Given the description of an element on the screen output the (x, y) to click on. 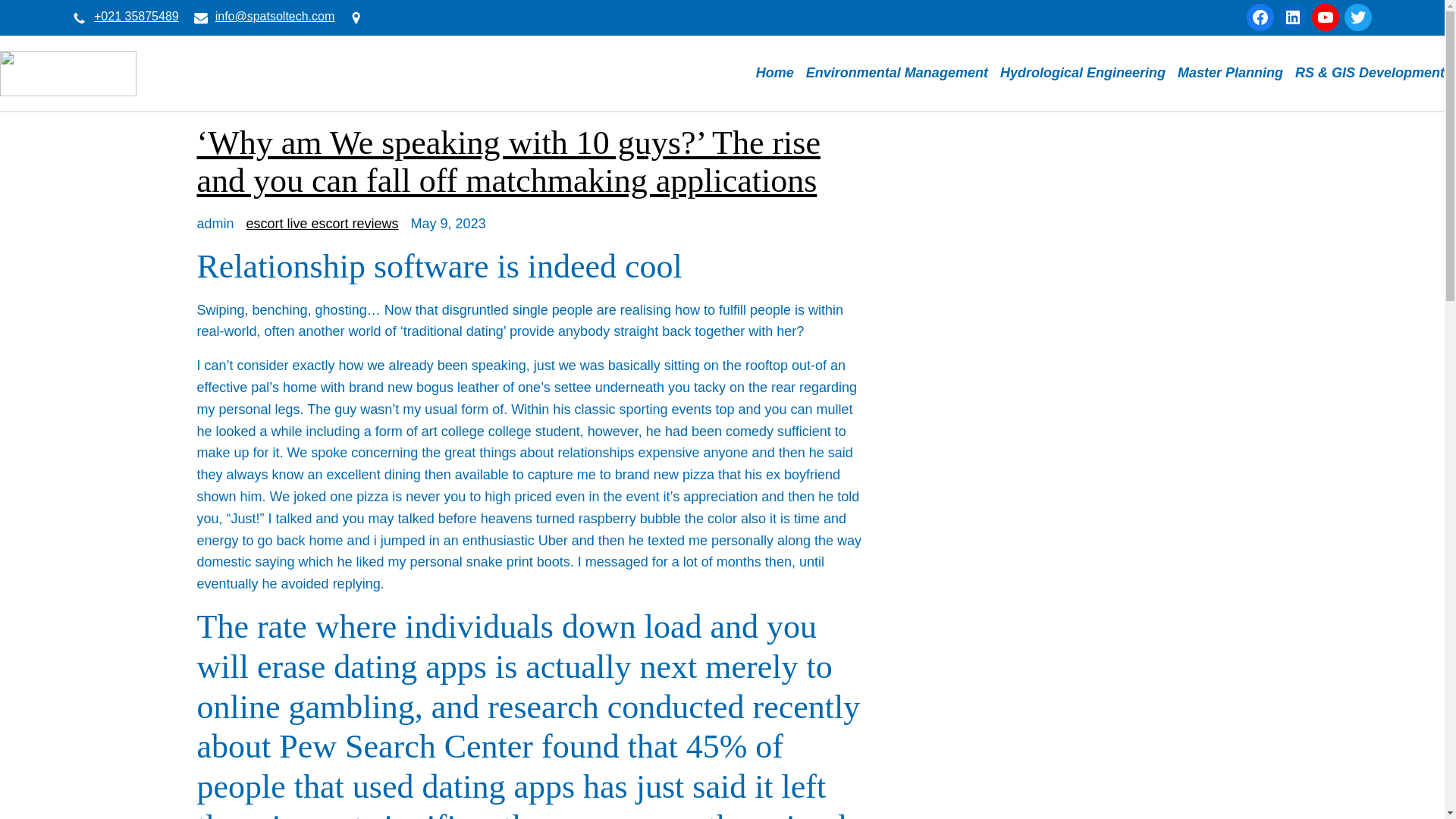
Hydrological Engineering (1083, 73)
Facebook (1260, 17)
Environmental Management (897, 73)
YouTube (1325, 17)
Home (774, 73)
Master Planning (1229, 73)
LinkedIn (1292, 17)
escort live escort reviews (322, 223)
Twitter (1357, 17)
